Given the description of an element on the screen output the (x, y) to click on. 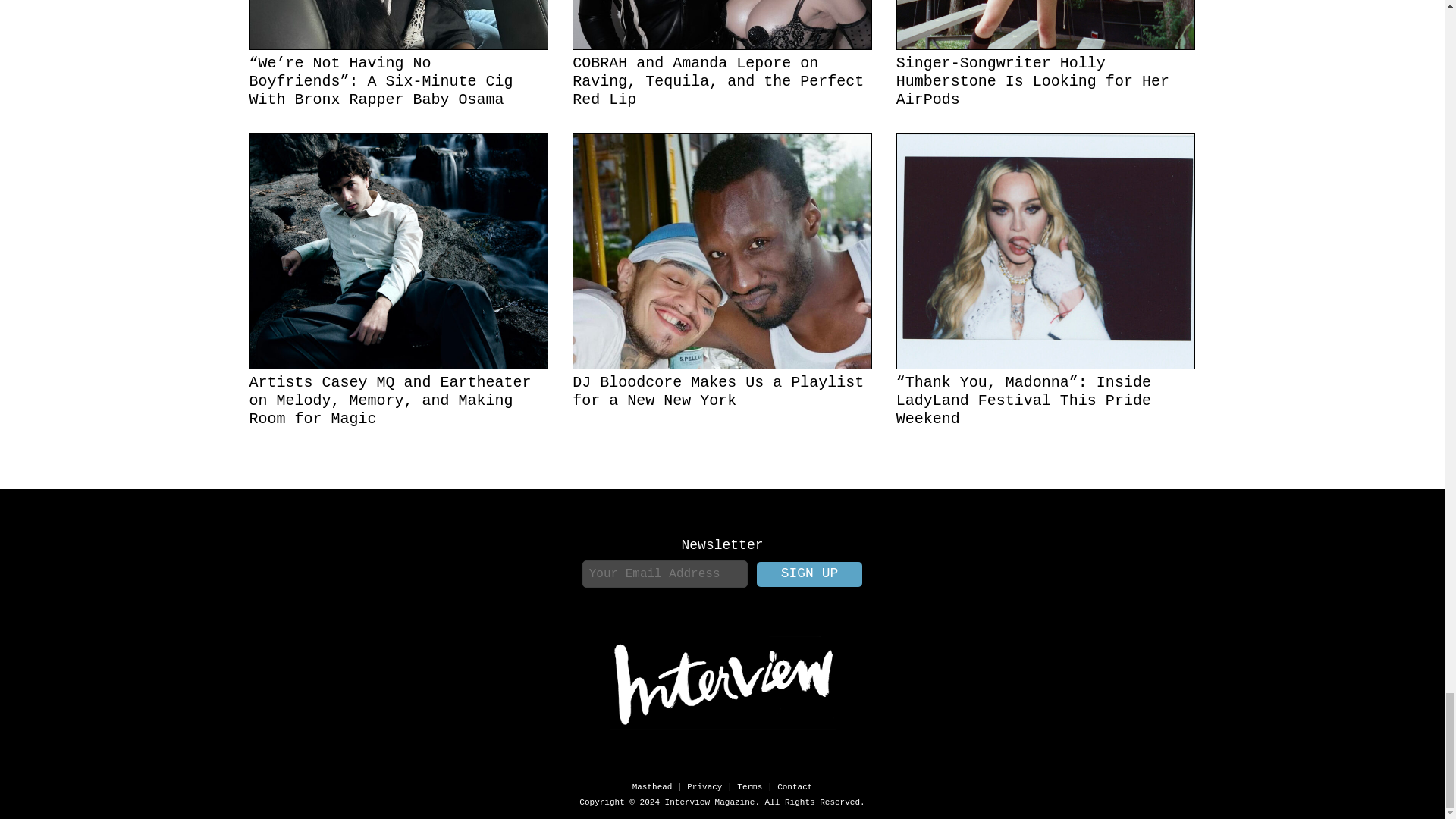
Sign up (810, 574)
